Given the description of an element on the screen output the (x, y) to click on. 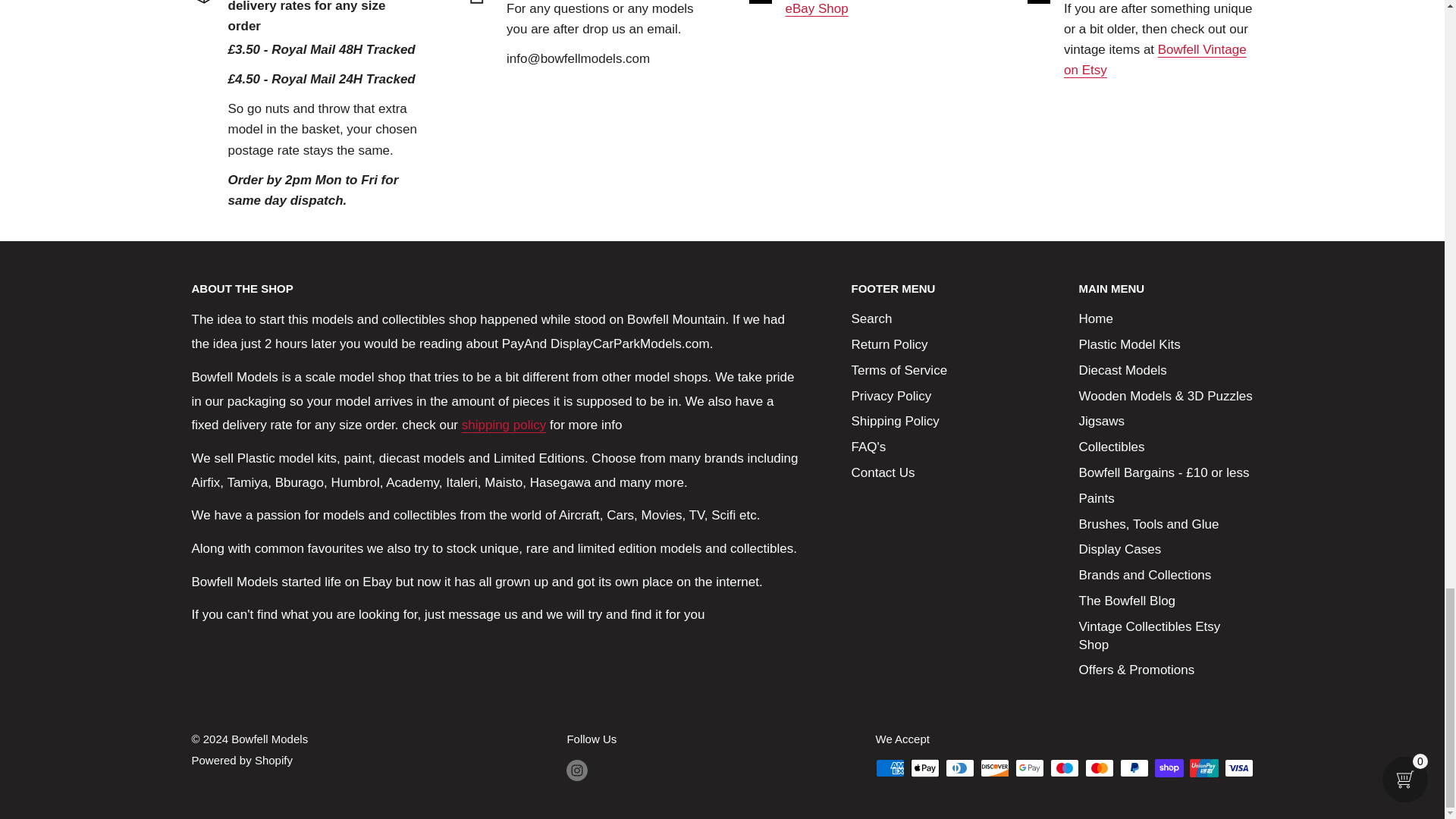
Shipping Policy (504, 424)
